Given the description of an element on the screen output the (x, y) to click on. 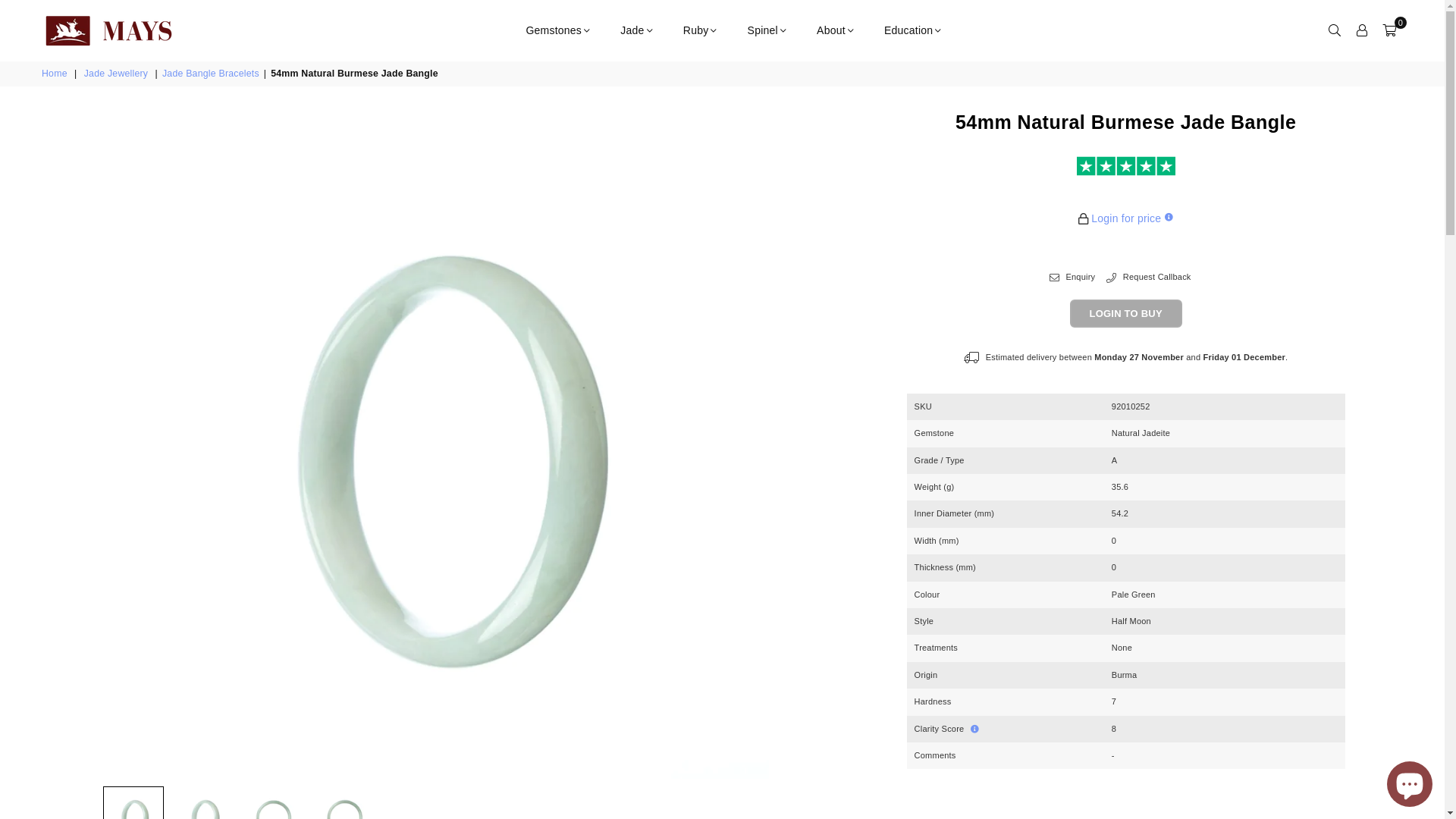
Enquiry Element type: text (1072, 276)
0 Element type: text (1388, 29)
MAYS GEMS Element type: text (120, 29)
Spinel Element type: text (766, 30)
Settings Element type: hover (1361, 29)
Login for price Element type: text (1126, 218)
Search Element type: hover (1334, 29)
LOGIN TO BUY Element type: text (1126, 314)
About Element type: text (835, 30)
Jade Element type: text (635, 30)
Education Element type: text (912, 30)
Home Element type: text (55, 73)
Jade Bangle Bracelets Element type: text (211, 73)
Jade Jewellery Element type: text (117, 73)
Shopify online store chat Element type: hover (1409, 780)
Ruby Element type: text (699, 30)
Request Callback Element type: text (1148, 276)
Gemstones Element type: text (557, 30)
